Given the description of an element on the screen output the (x, y) to click on. 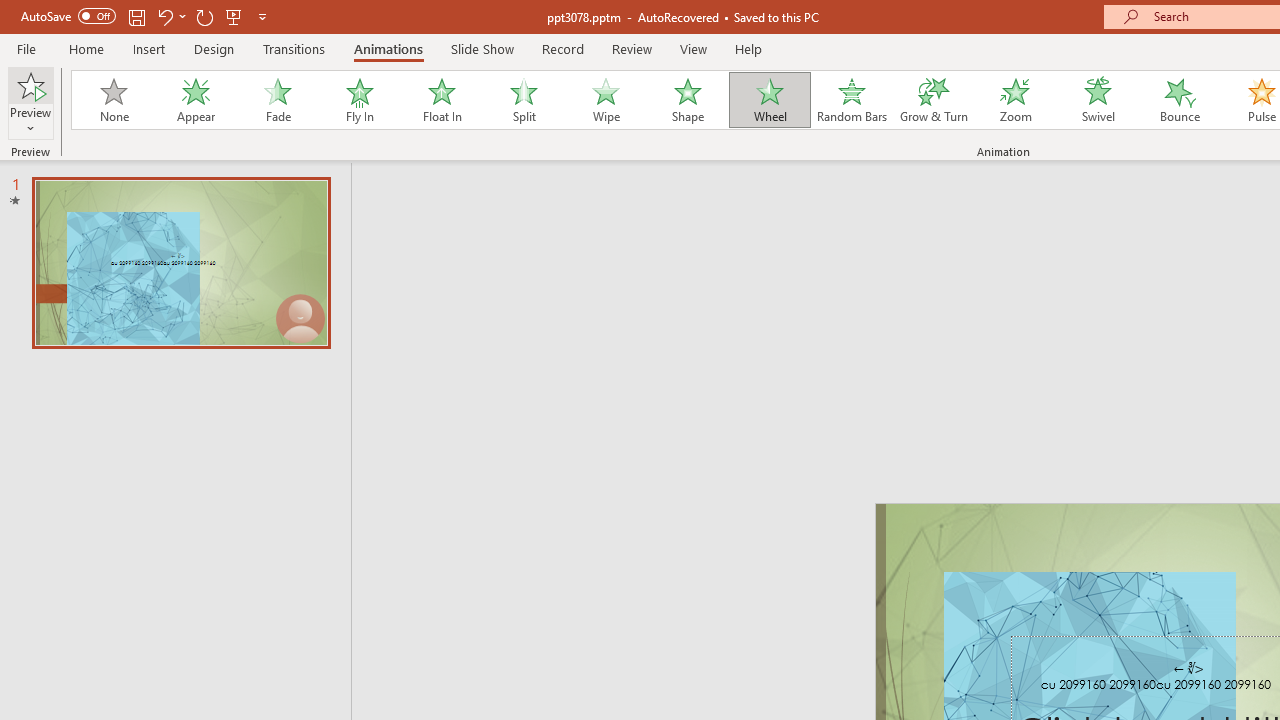
TextBox 7 (1188, 668)
Grow & Turn (934, 100)
Fade (277, 100)
